Given the description of an element on the screen output the (x, y) to click on. 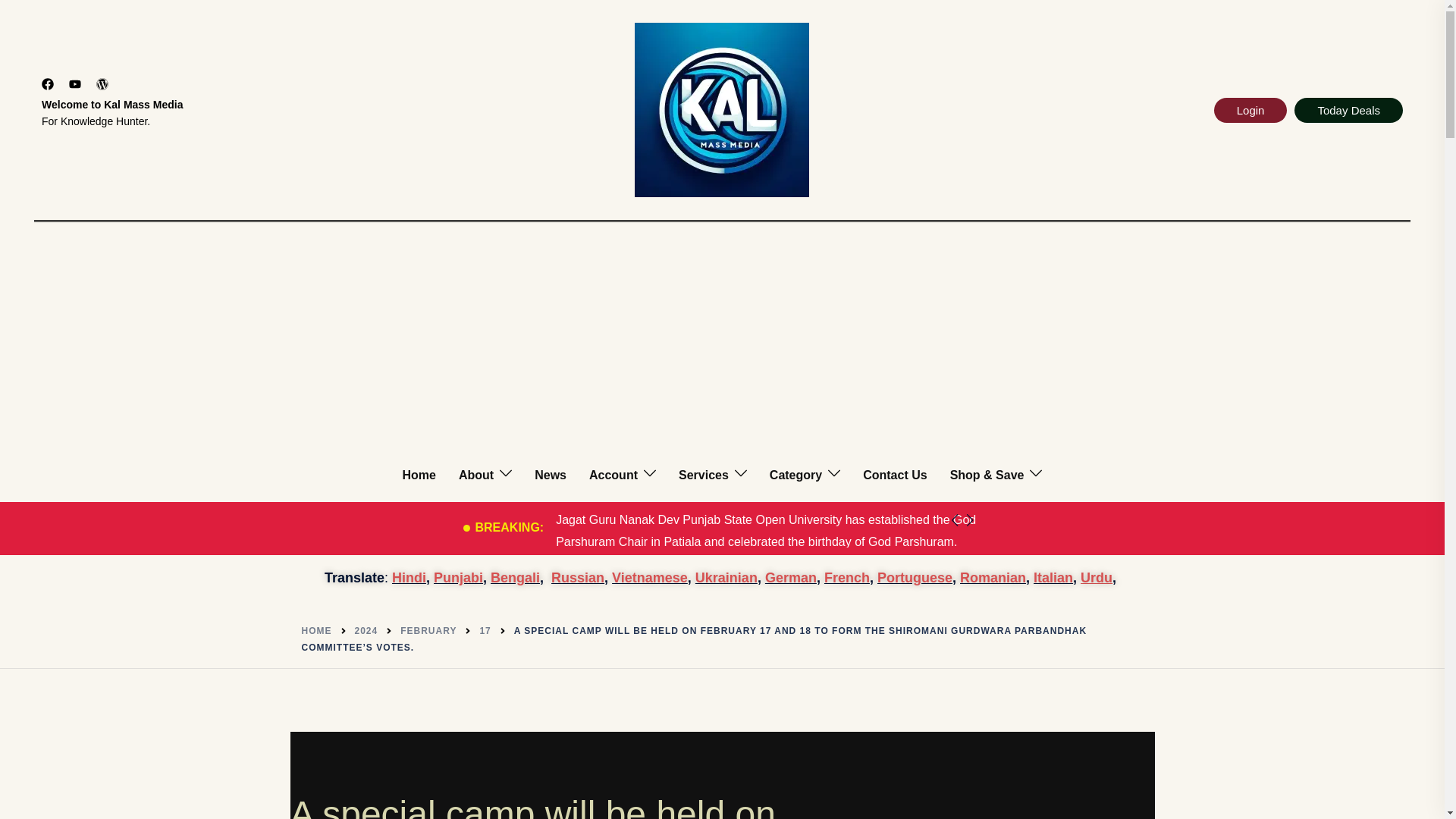
Services (703, 475)
Today Deals (1348, 109)
Account (613, 475)
Home (419, 475)
About (475, 475)
Login (1250, 109)
Category (796, 475)
News (550, 475)
